Given the description of an element on the screen output the (x, y) to click on. 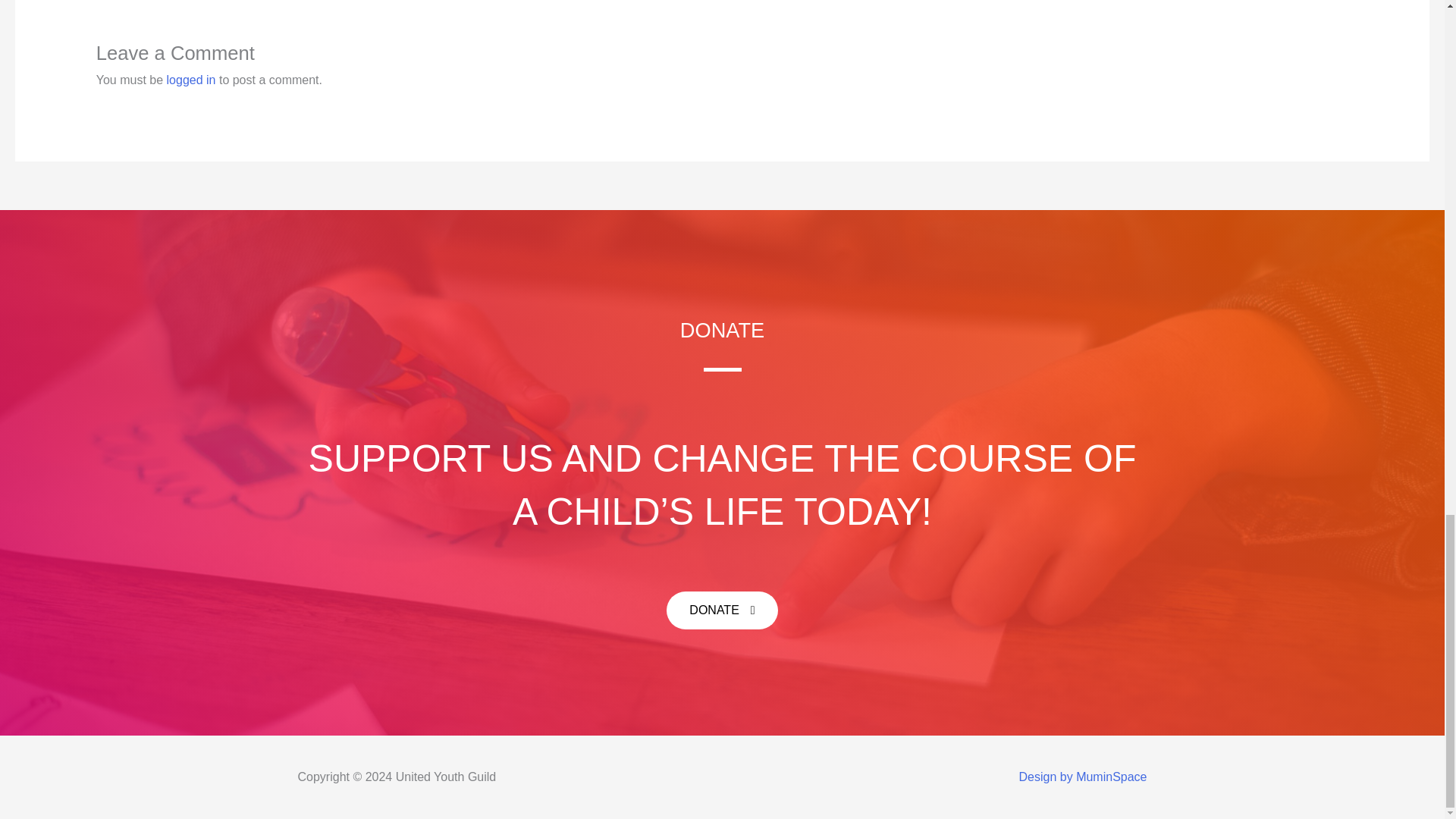
logged in (191, 79)
Design by MuminSpace (1083, 776)
DONATE (721, 610)
